Given the description of an element on the screen output the (x, y) to click on. 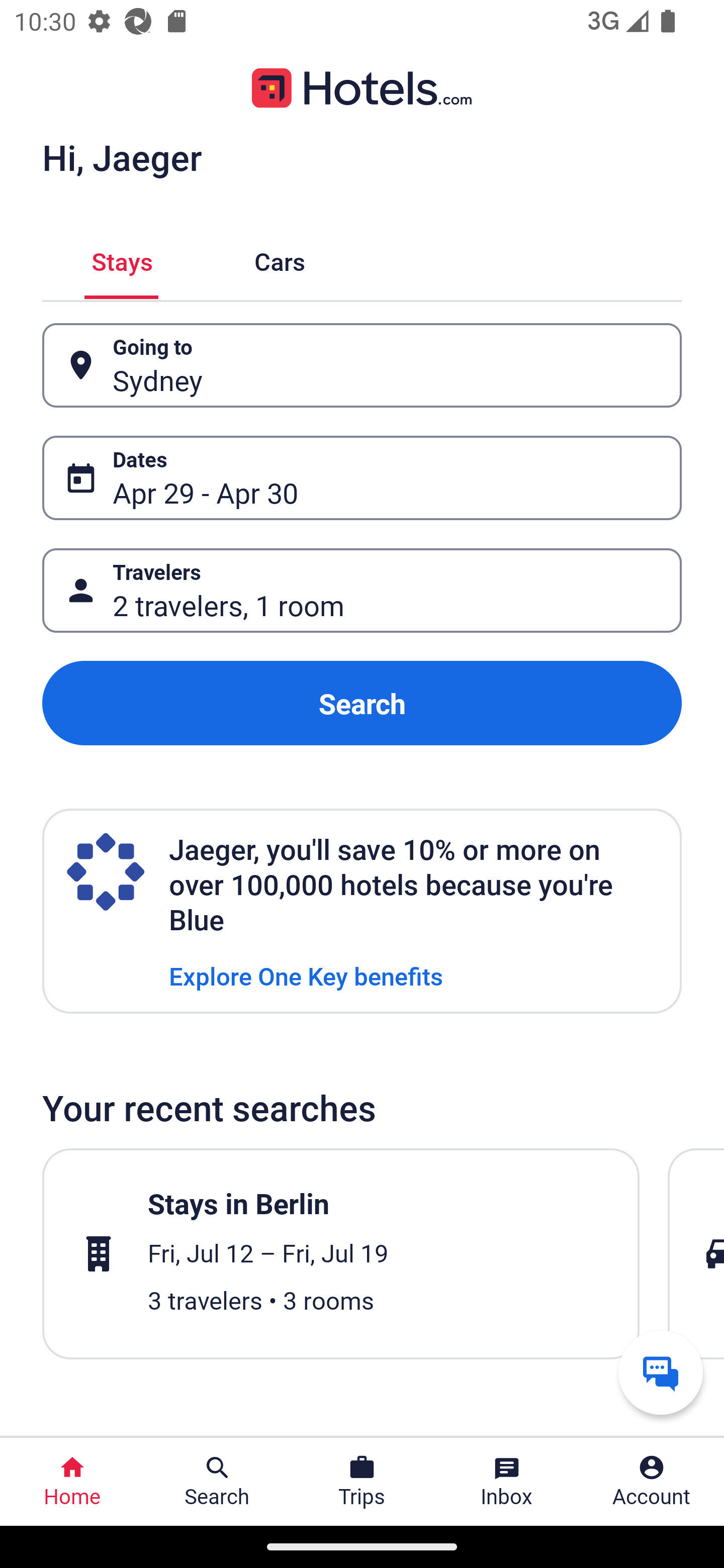
Hi, Jaeger (121, 156)
Cars (279, 259)
Going to Button Sydney (361, 365)
Dates Button Apr 29 - Apr 30 (361, 477)
Travelers Button 2 travelers, 1 room (361, 590)
Search (361, 702)
Get help from a virtual agent (660, 1371)
Search Search Button (216, 1481)
Trips Trips Button (361, 1481)
Inbox Inbox Button (506, 1481)
Account Profile. Button (651, 1481)
